Given the description of an element on the screen output the (x, y) to click on. 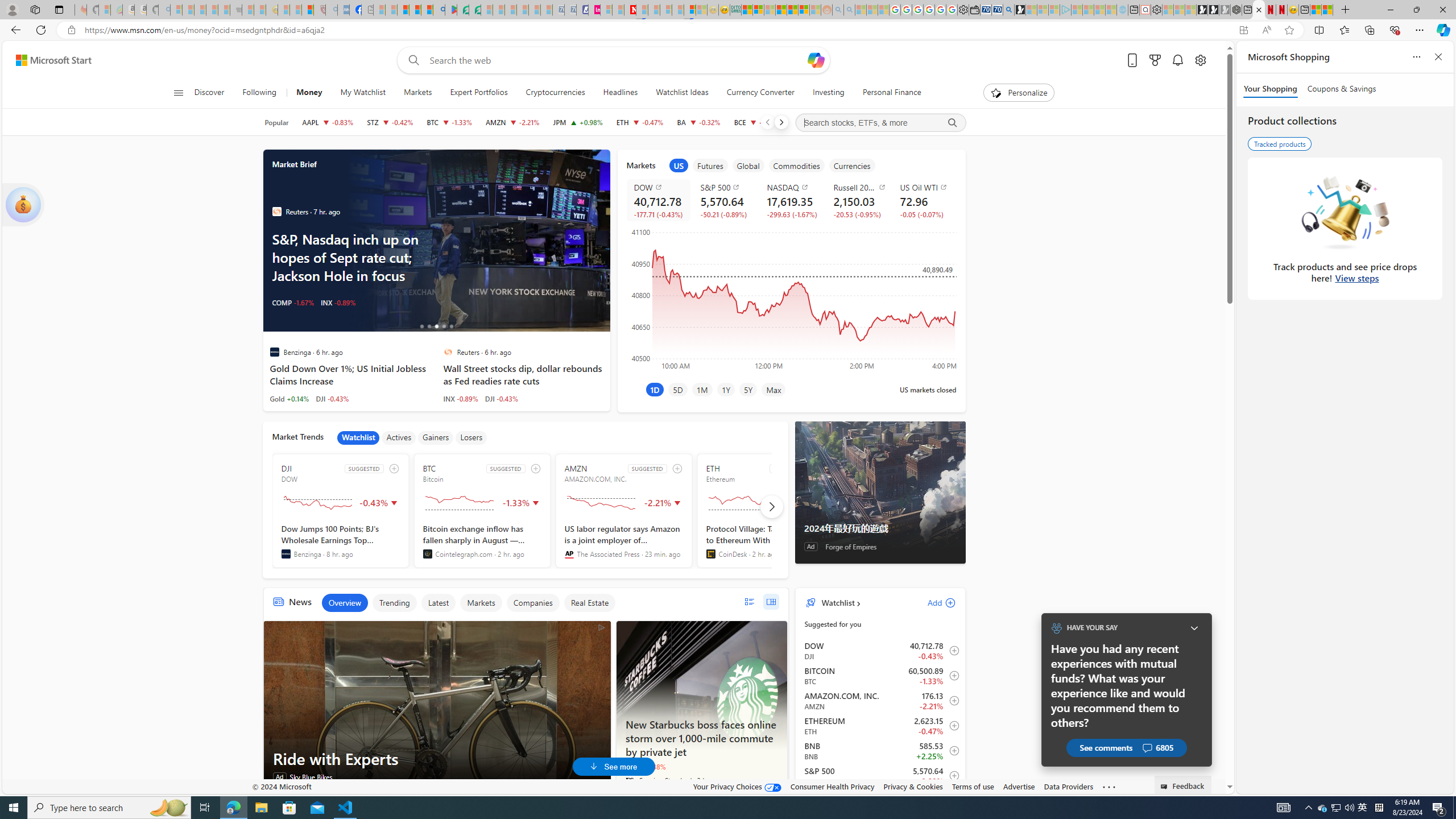
AMZN AMAZON.COM, INC. decrease 176.13 -3.98 -2.21% (512, 122)
Your Privacy Choices (737, 785)
Evening Standard (629, 779)
BCE BCE Inc decrease 34.55 -0.07 -0.20% (756, 122)
ETH Ethereum decrease 2,623.15 -12.43 -0.47% (639, 122)
BNB BNB increase 585.53 +13.17 +2.25% item4 (880, 750)
